Given the description of an element on the screen output the (x, y) to click on. 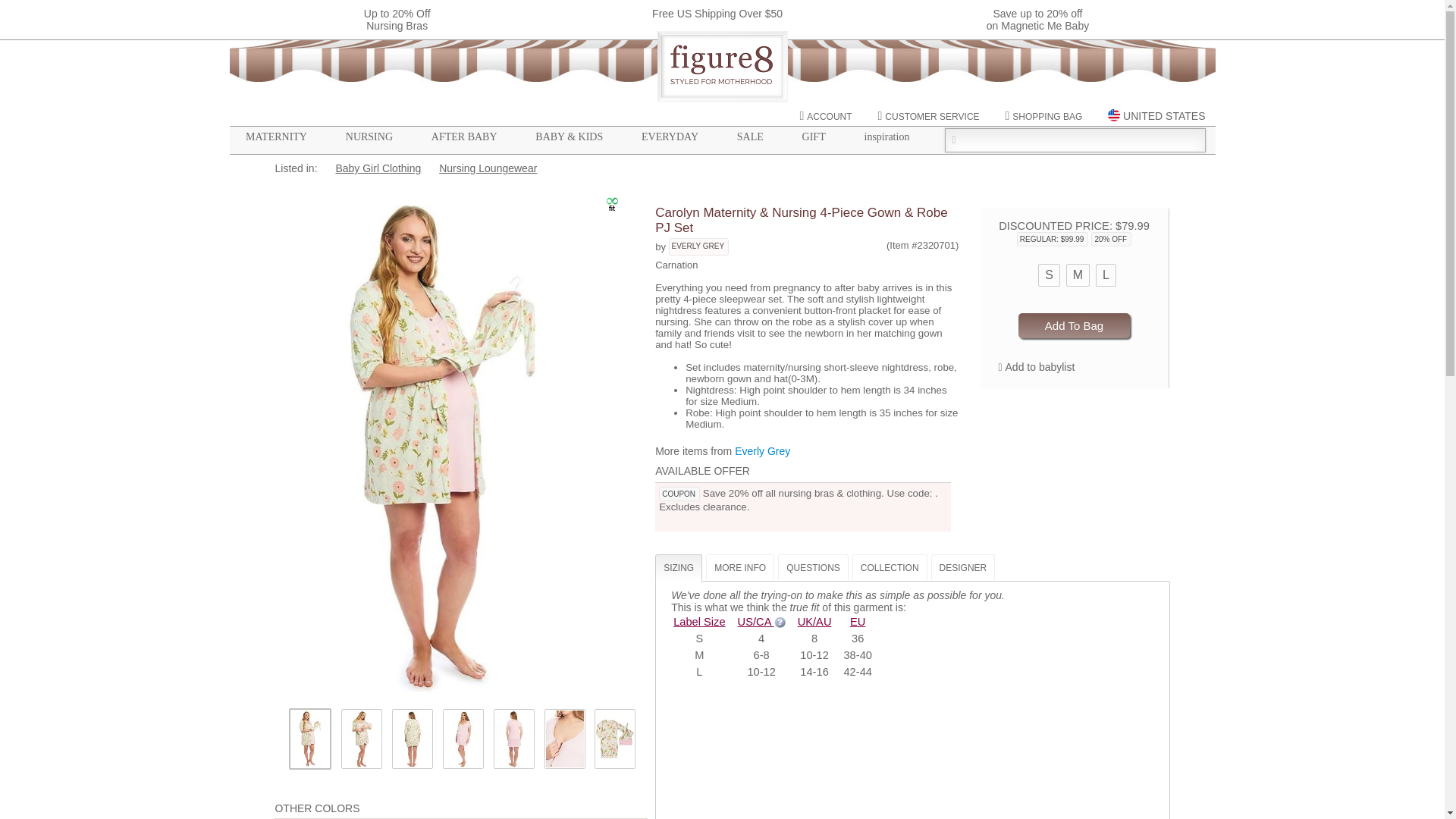
ACCOUNT (825, 116)
inspiration (887, 136)
SHOPPING BAG (1042, 116)
SALE (749, 136)
Change Site (1156, 115)
NURSING (369, 136)
MATERNITY (276, 136)
GIFT (813, 136)
CUSTOMER SERVICE (927, 116)
AFTER BABY (463, 136)
